Given the description of an element on the screen output the (x, y) to click on. 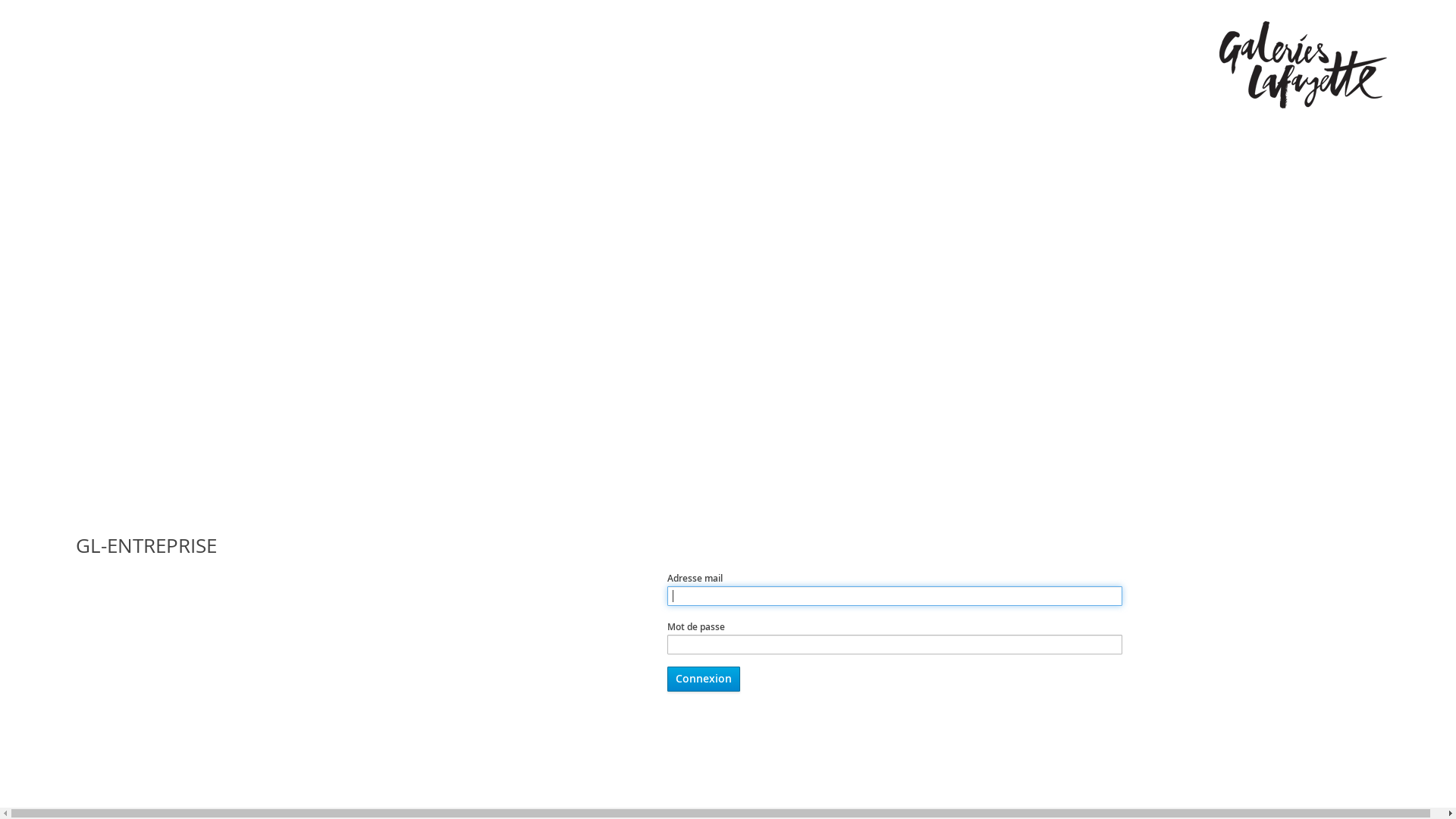
Connexion Element type: text (703, 678)
